Given the description of an element on the screen output the (x, y) to click on. 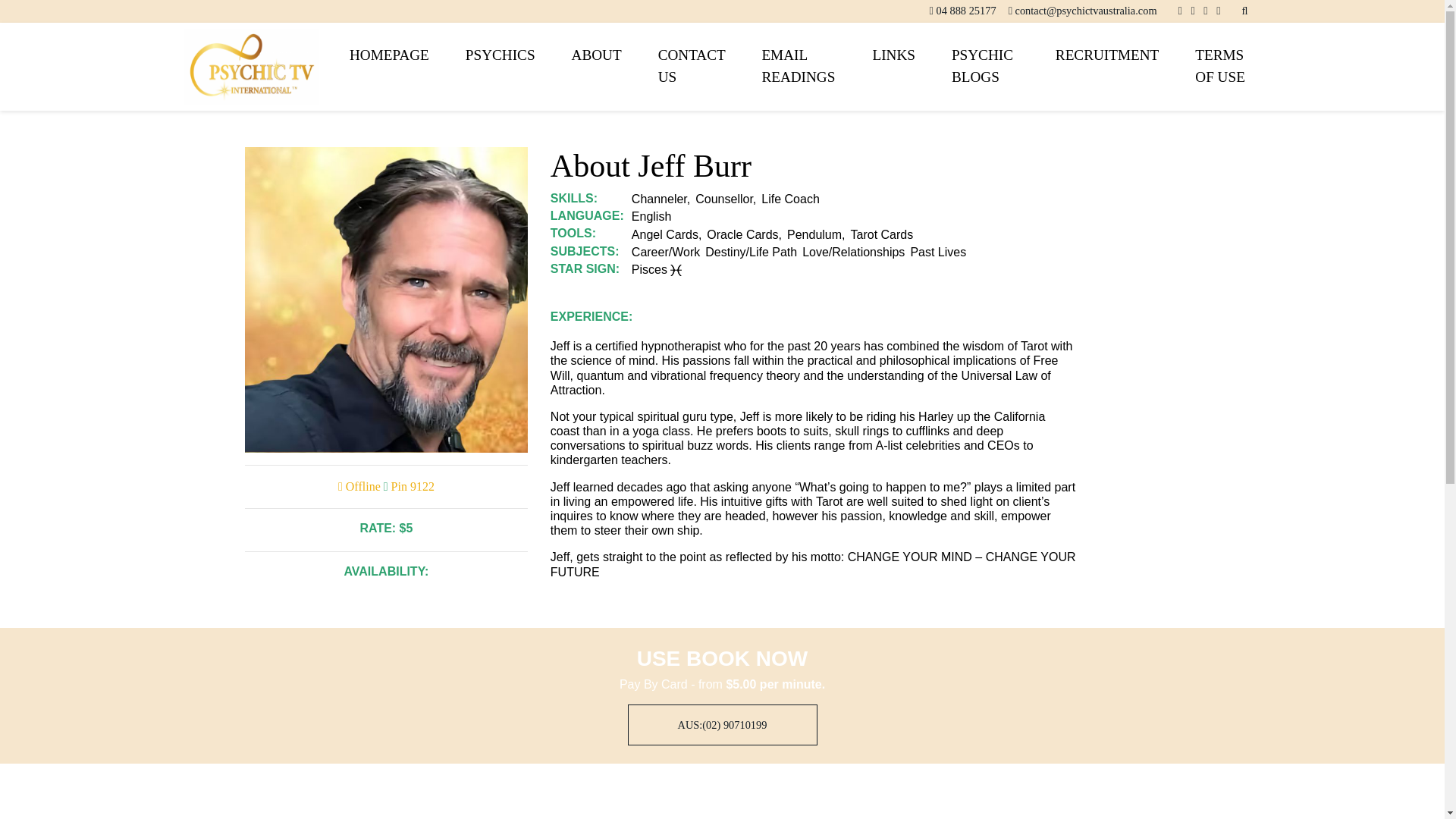
About (596, 55)
Recruitment (1106, 55)
Homepage (388, 55)
TERMS OF USE (1218, 66)
Contact US (692, 66)
Psychics (499, 55)
CONTACT US (692, 66)
LINKS (893, 55)
EMAIL READINGS (797, 66)
PSYCHIC BLOGS (984, 66)
Email Readings (797, 66)
LINKS (893, 55)
PSYCHICS (499, 55)
Terms of Use (1218, 66)
RECRUITMENT (1106, 55)
